Given the description of an element on the screen output the (x, y) to click on. 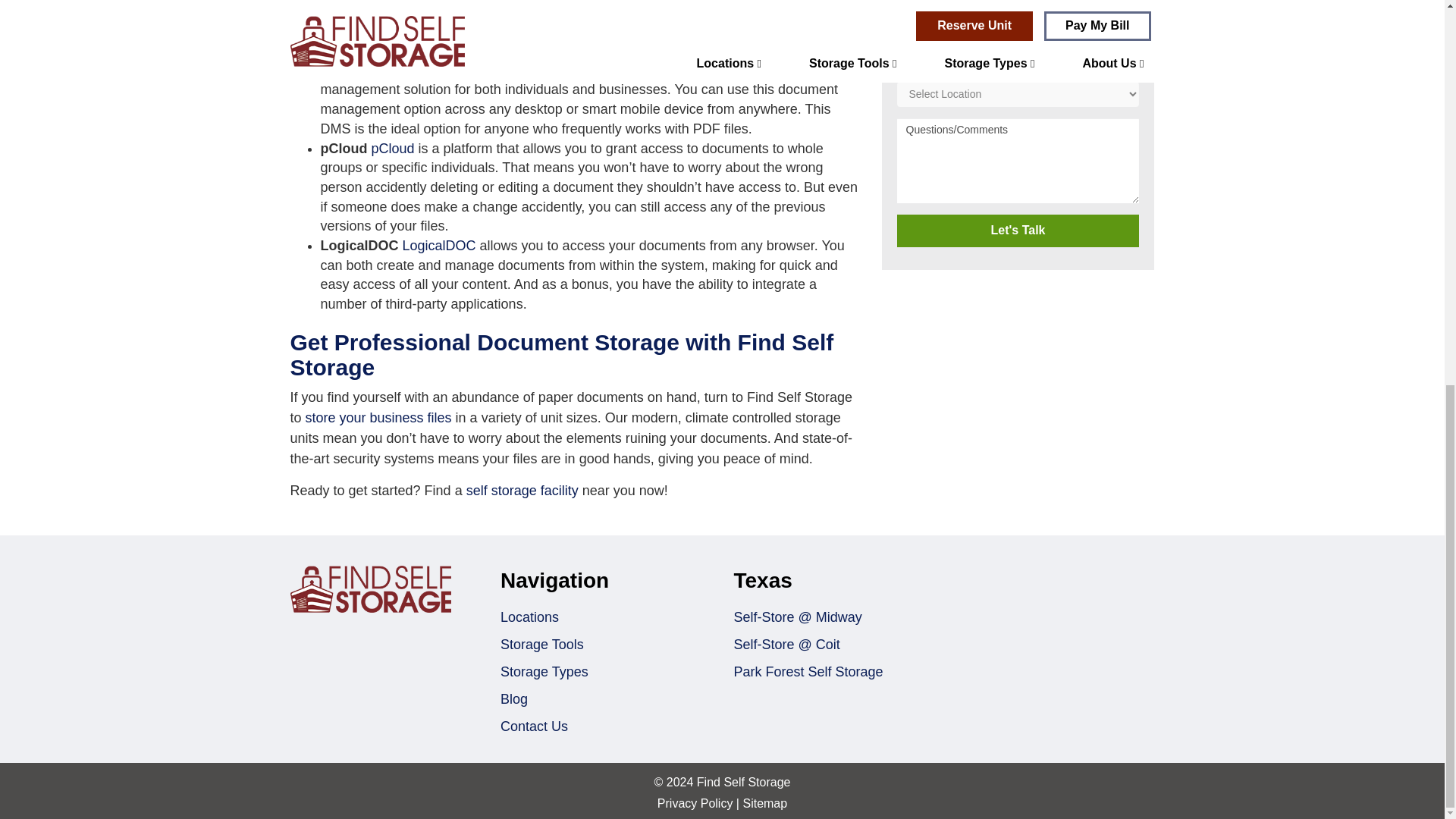
Let's Talk (1017, 230)
